Given the description of an element on the screen output the (x, y) to click on. 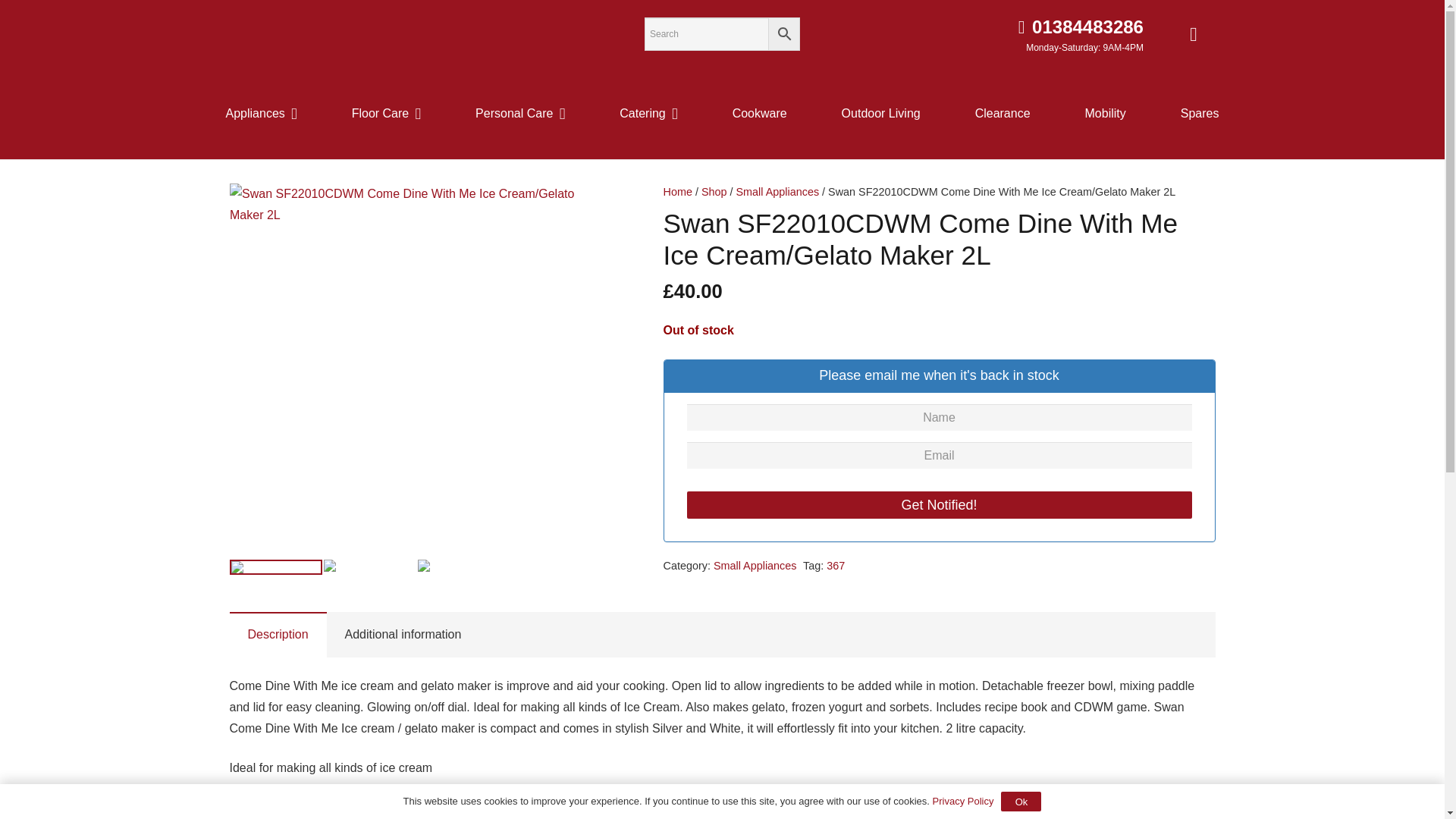
01384483286 (1079, 26)
Get Notified! (939, 504)
Floor Care (386, 112)
Appliances (260, 112)
Personal Care (520, 112)
